Given the description of an element on the screen output the (x, y) to click on. 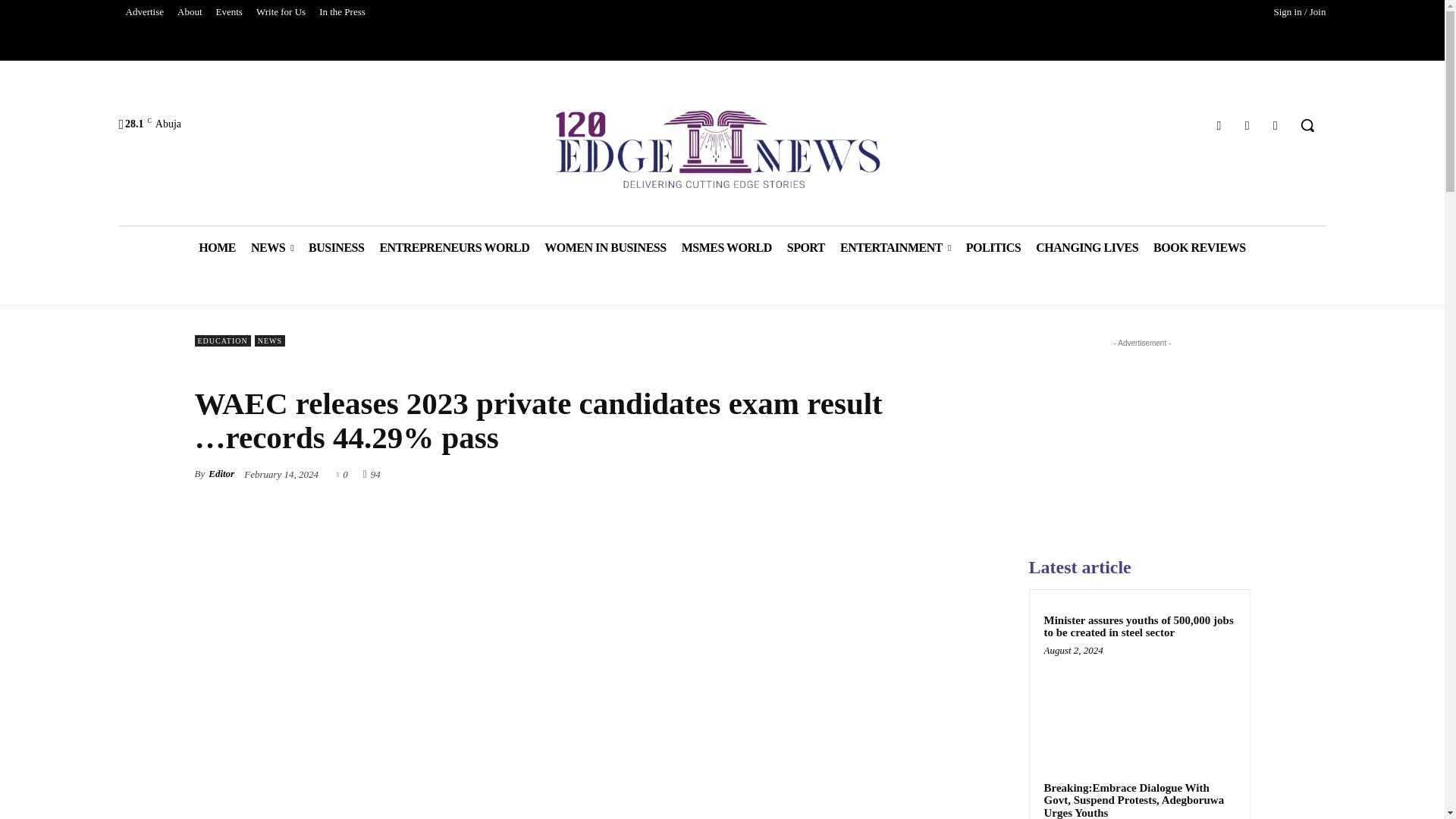
About (189, 12)
Facebook (1218, 125)
Twitter (1246, 125)
NEWS (272, 247)
Write for Us (280, 12)
Events (228, 12)
Advertise (143, 12)
In the Press (342, 12)
HOME (216, 247)
Youtube (1275, 125)
